Given the description of an element on the screen output the (x, y) to click on. 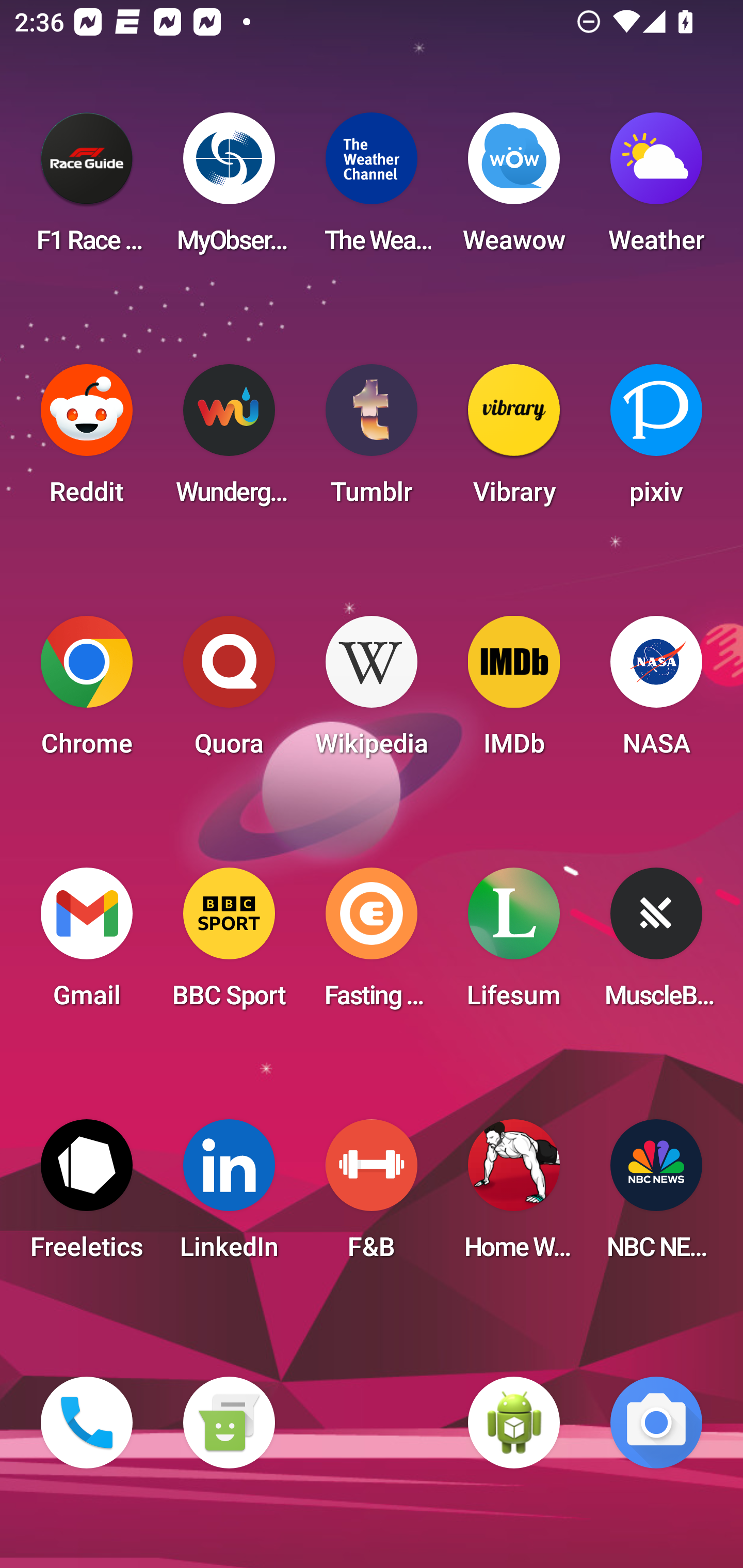
F1 Race Guide (86, 188)
MyObservatory (228, 188)
The Weather Channel (371, 188)
Weawow (513, 188)
Weather (656, 188)
Reddit (86, 440)
Wunderground (228, 440)
Tumblr (371, 440)
Vibrary (513, 440)
pixiv (656, 440)
Chrome (86, 692)
Quora (228, 692)
Wikipedia (371, 692)
IMDb (513, 692)
NASA (656, 692)
Gmail (86, 943)
BBC Sport (228, 943)
Fasting Coach (371, 943)
Lifesum (513, 943)
MuscleBooster (656, 943)
Freeletics (86, 1195)
LinkedIn (228, 1195)
F&B (371, 1195)
Home Workout (513, 1195)
NBC NEWS (656, 1195)
Phone (86, 1422)
Messaging (228, 1422)
WebView Browser Tester (513, 1422)
Camera (656, 1422)
